Given the description of an element on the screen output the (x, y) to click on. 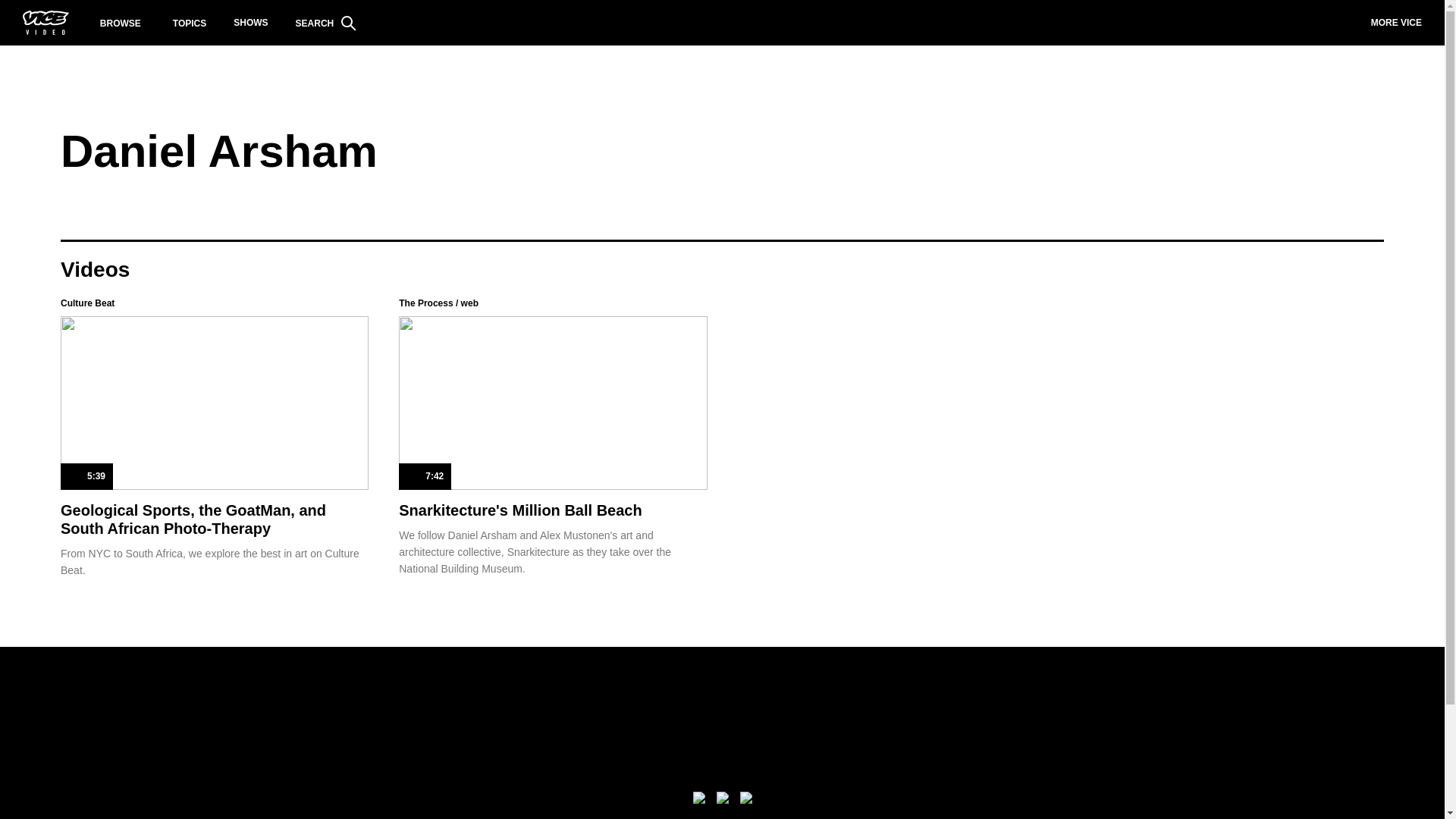
SEARCH (325, 23)
TOPICS (189, 23)
BROWSE (120, 23)
MORE VICE (1395, 22)
SHOWS (250, 22)
